Given the description of an element on the screen output the (x, y) to click on. 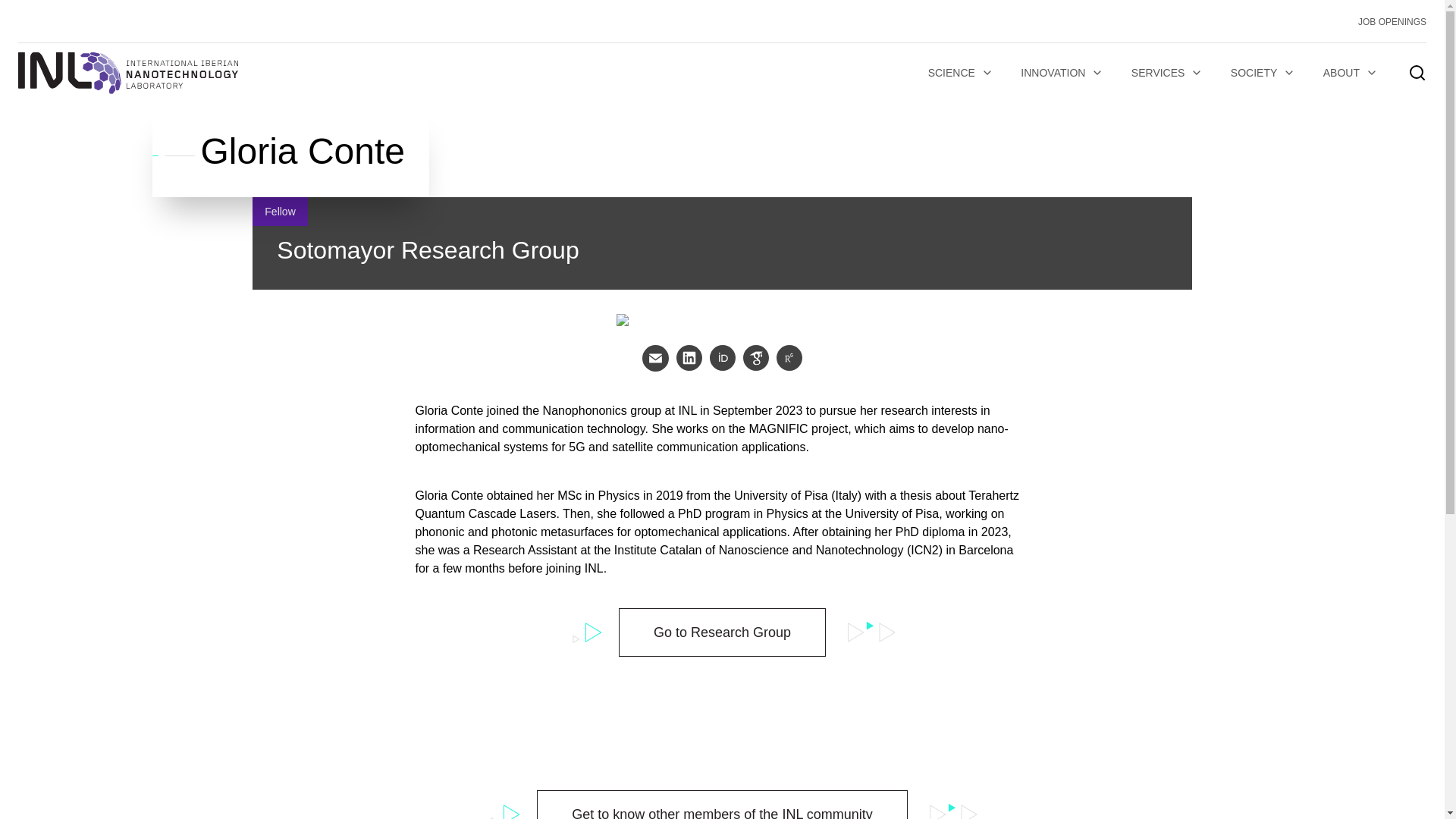
SERVICES (1167, 72)
SCIENCE (960, 72)
SOCIETY (1262, 72)
JOB OPENINGS (1392, 21)
ABOUT (1350, 72)
Subscribe (331, 589)
Search (984, 433)
INNOVATION (1062, 72)
INL home (127, 73)
